Given the description of an element on the screen output the (x, y) to click on. 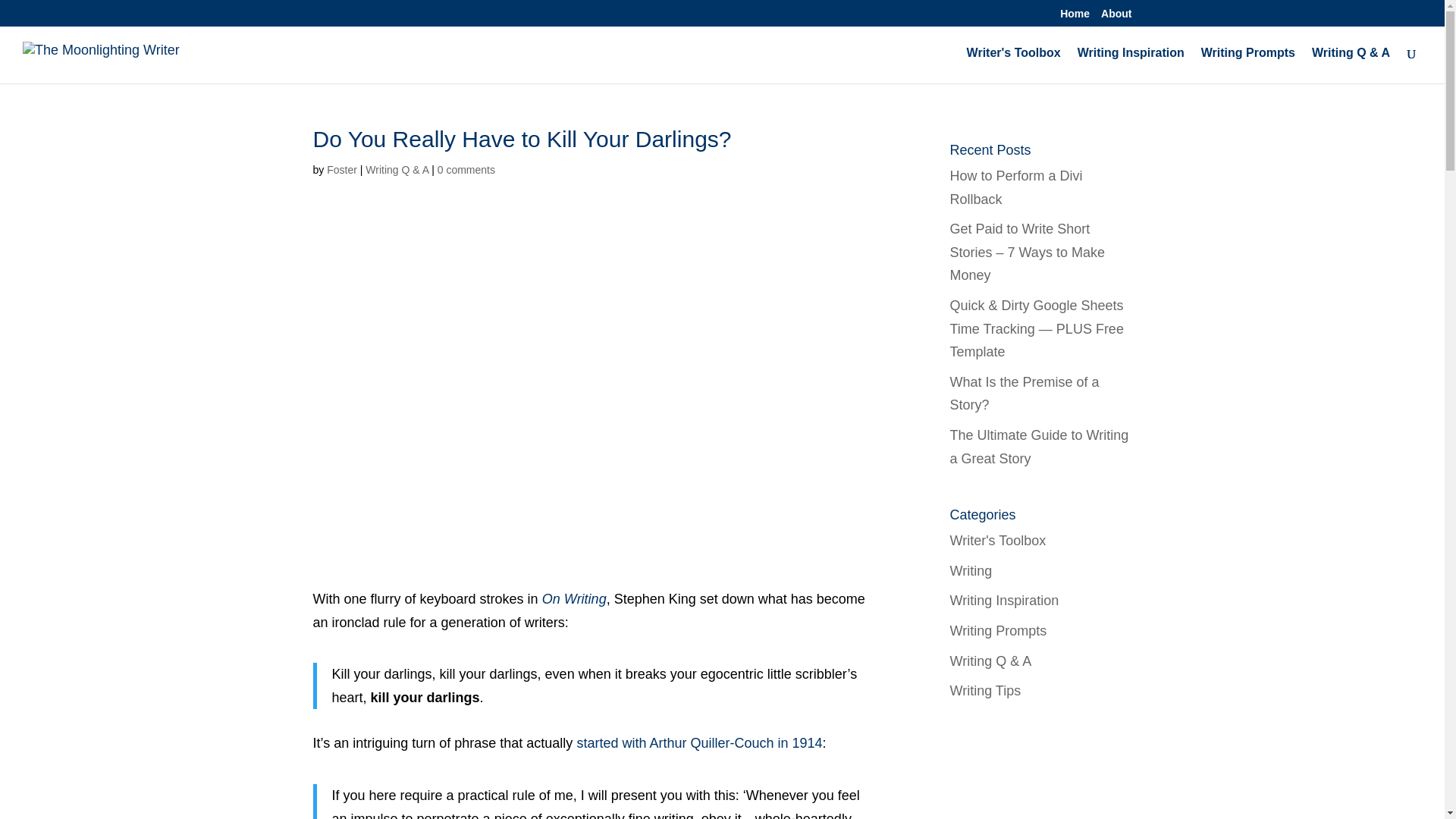
Posts by Foster (341, 169)
What Is the Premise of a Story? (1024, 393)
0 comments (466, 169)
On Writing (574, 598)
Writing (970, 570)
Home (1074, 16)
Writing Tips (984, 690)
Writing Inspiration (1131, 65)
Writer's Toolbox (997, 540)
Writing Prompts (1248, 65)
started with Arthur Quiller-Couch in 1914 (699, 743)
Foster (341, 169)
The Ultimate Guide to Writing a Great Story (1038, 446)
Writer's Toolbox (1013, 65)
Writing Inspiration (1003, 600)
